Given the description of an element on the screen output the (x, y) to click on. 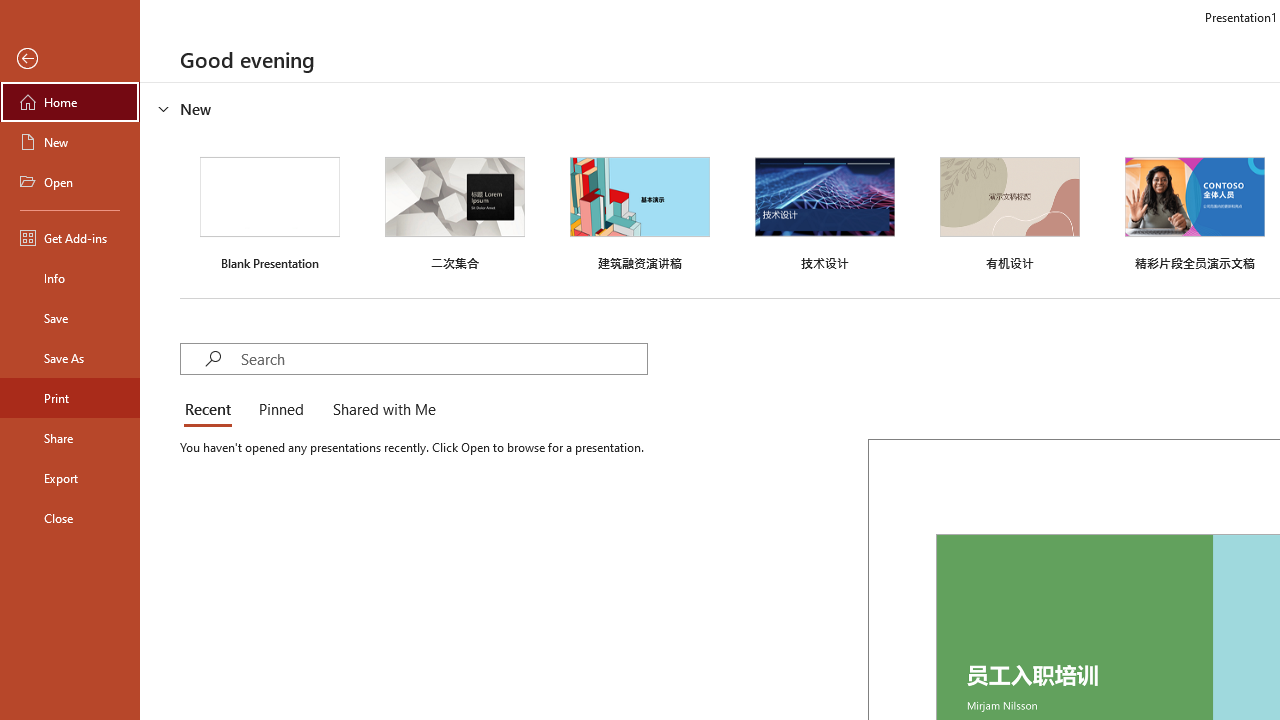
Recent (212, 410)
Get Add-ins (69, 237)
Export (69, 477)
Close (69, 517)
System (10, 11)
Save (69, 317)
Share (69, 437)
